Given the description of an element on the screen output the (x, y) to click on. 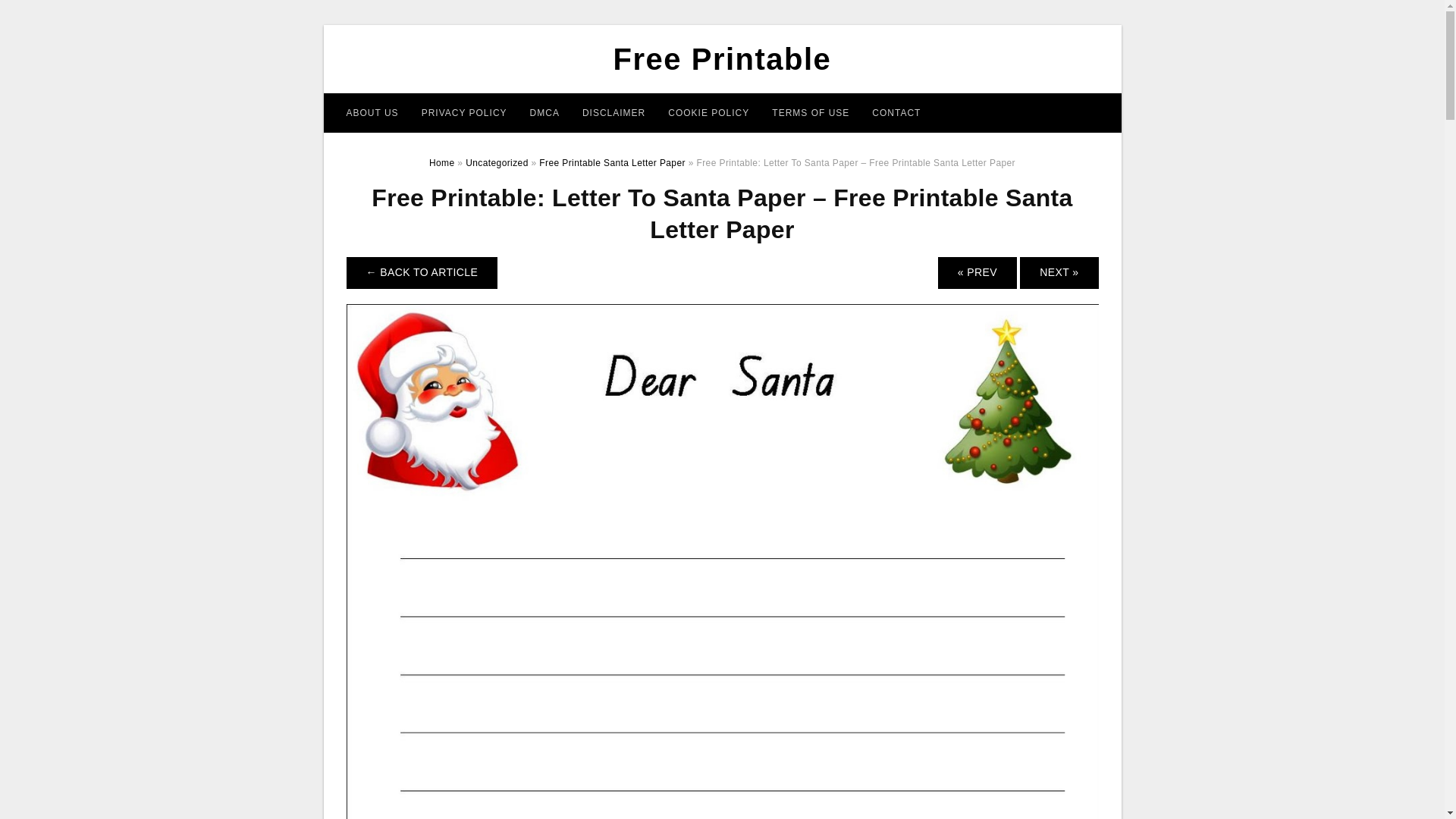
DMCA (544, 112)
DISCLAIMER (613, 112)
Free Printable (721, 59)
Uncategorized (496, 163)
Free Printable Santa Letter Paper (611, 163)
TERMS OF USE (810, 112)
COOKIE POLICY (708, 112)
Return to Free Printable Santa Letter Paper (421, 272)
ABOUT US (372, 112)
Home (441, 163)
CONTACT (895, 112)
PRIVACY POLICY (464, 112)
